Given the description of an element on the screen output the (x, y) to click on. 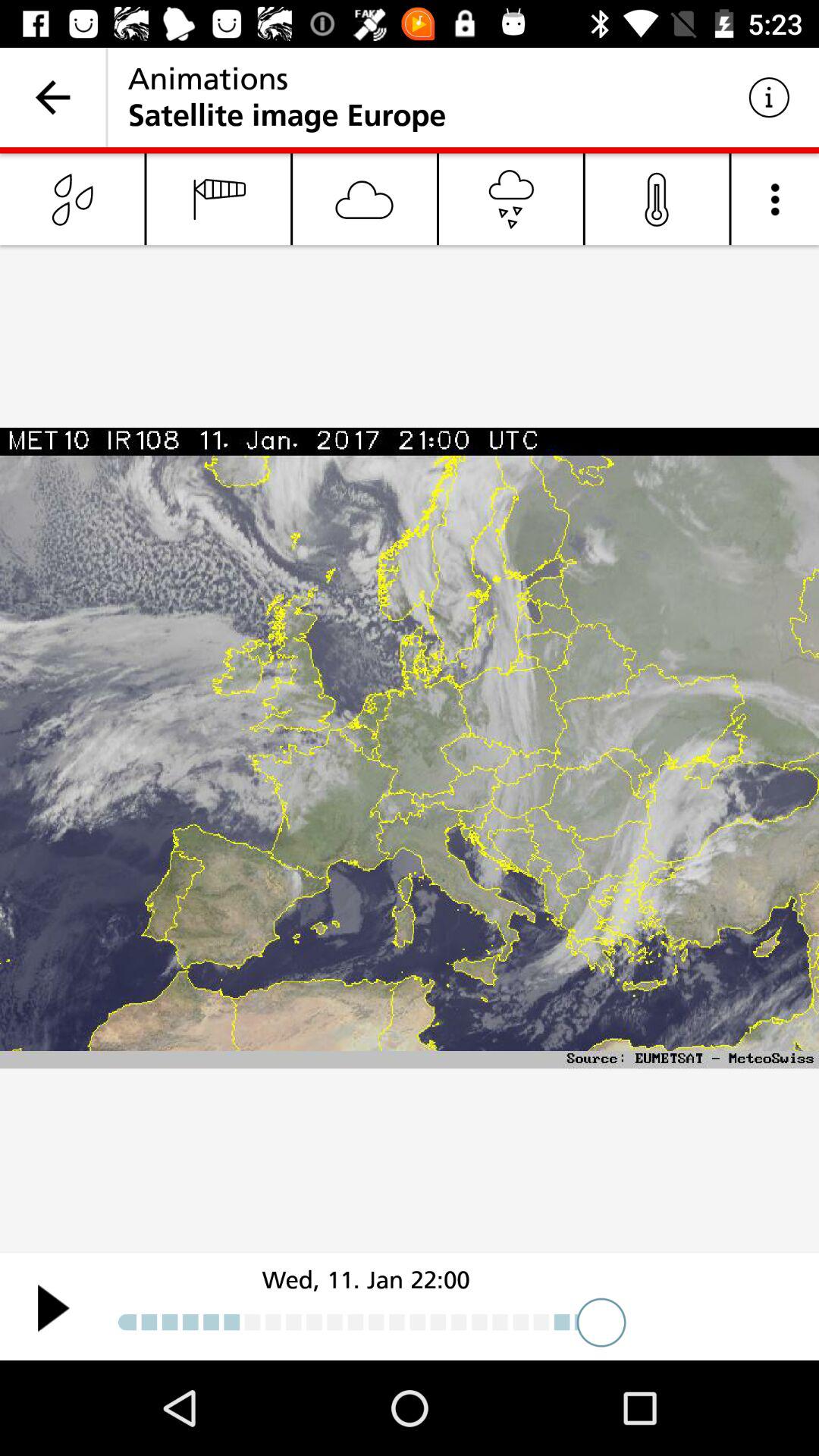
go to menu (775, 199)
